Given the description of an element on the screen output the (x, y) to click on. 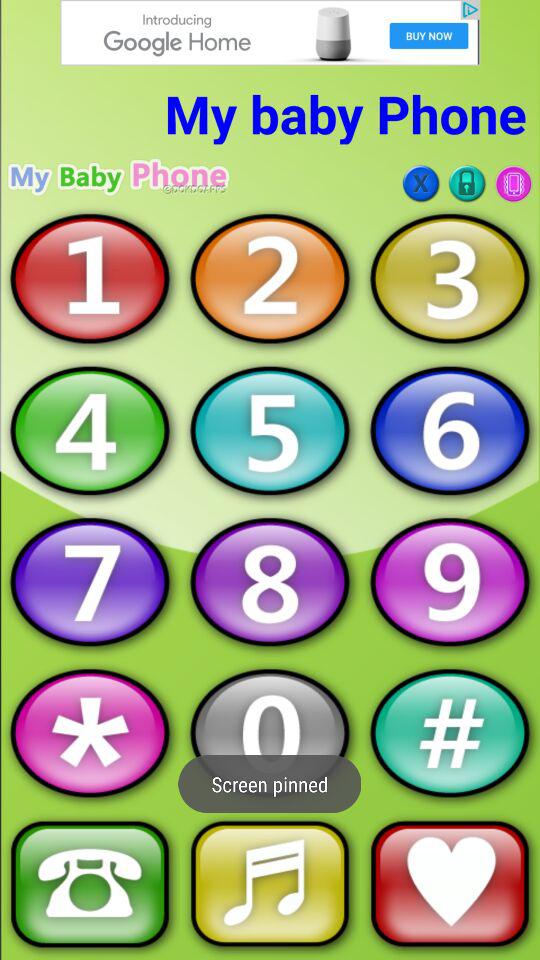
lock option (467, 183)
